Given the description of an element on the screen output the (x, y) to click on. 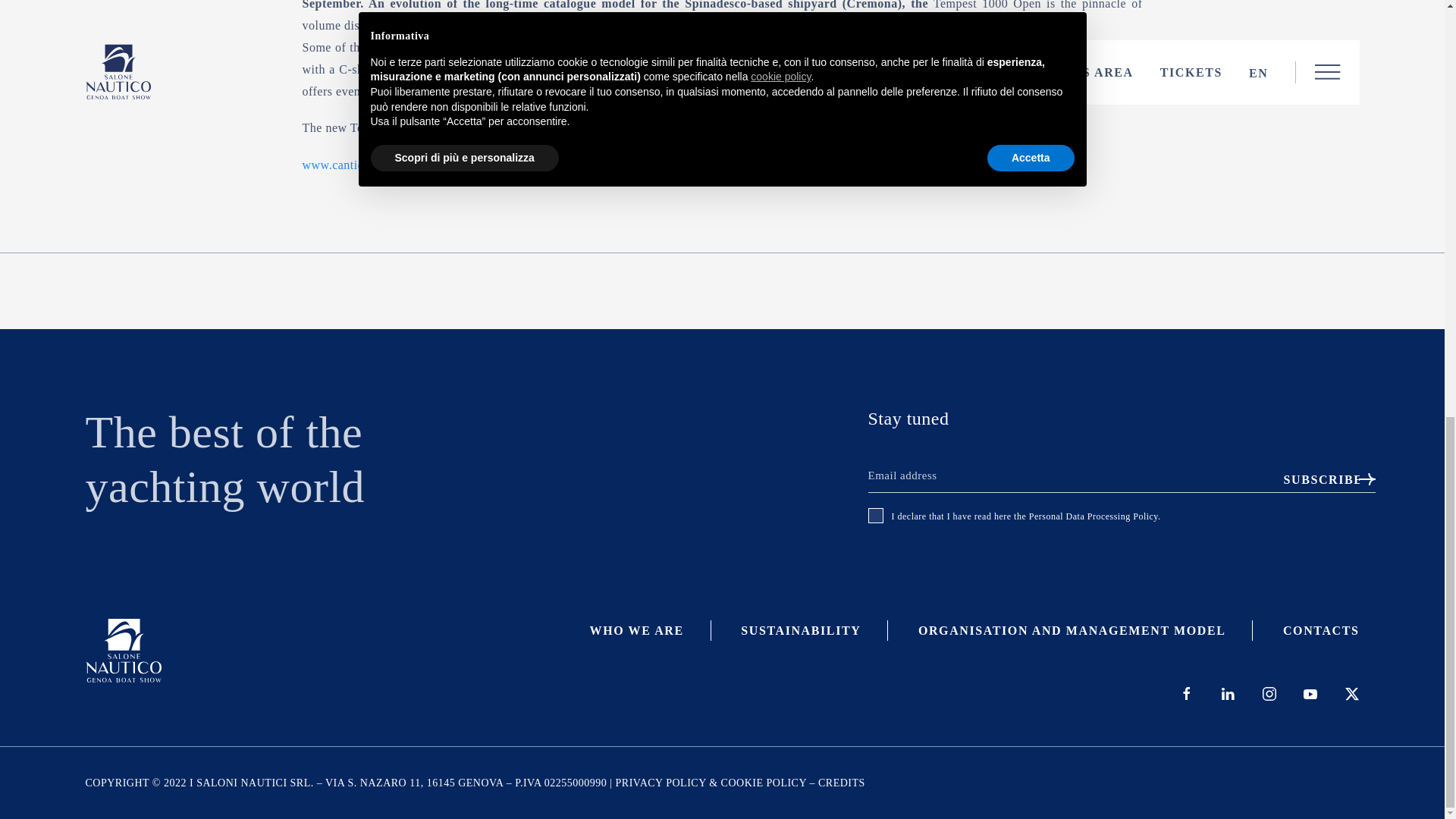
1 (874, 515)
Subscribe (1317, 480)
